Given the description of an element on the screen output the (x, y) to click on. 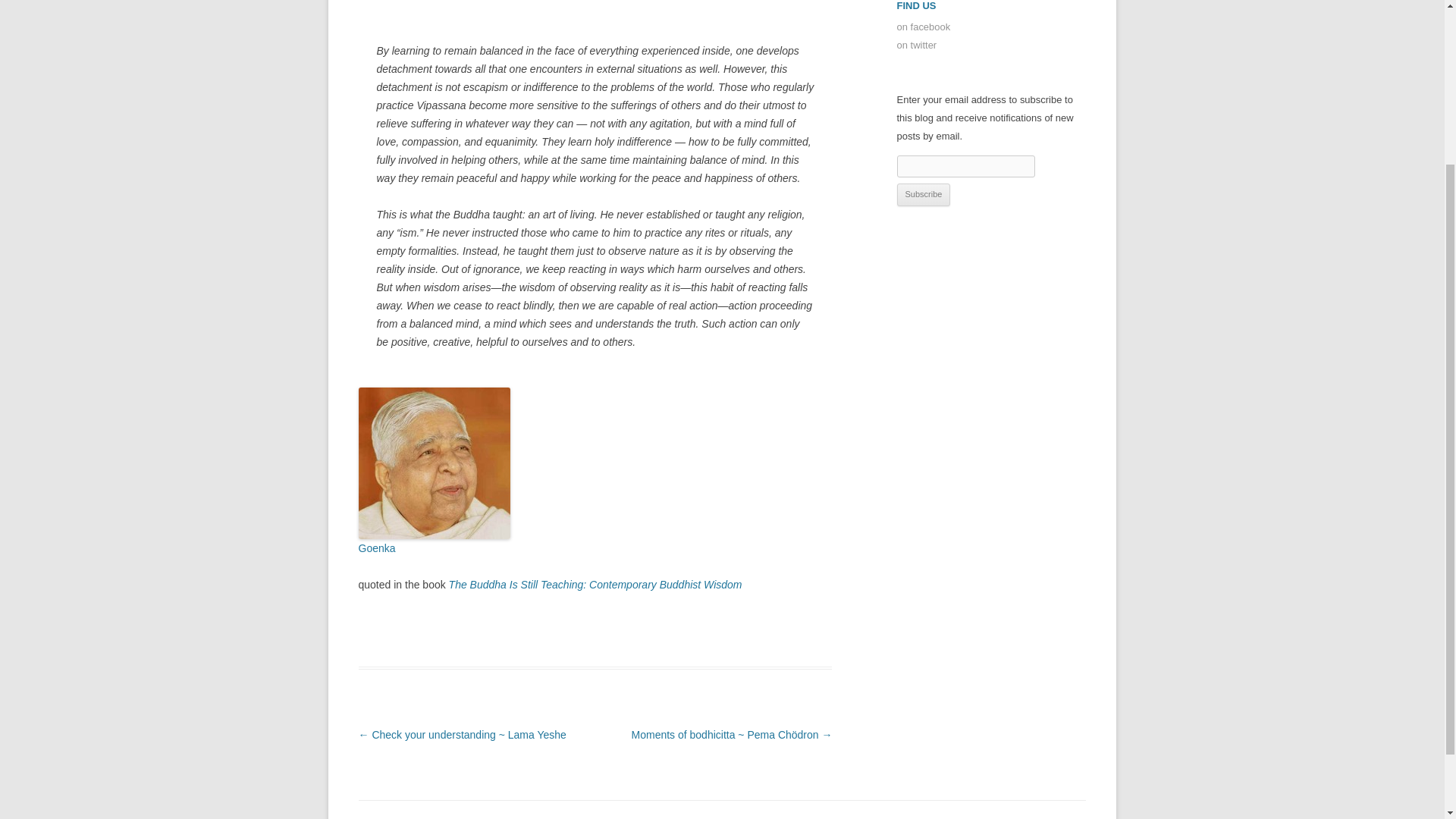
Goenka (376, 548)
on twitter (916, 44)
Subscribe (923, 194)
on facebook (923, 26)
Subscribe (923, 194)
The Buddha Is Still Teaching: Contemporary Buddhist Wisdom (595, 584)
